Given the description of an element on the screen output the (x, y) to click on. 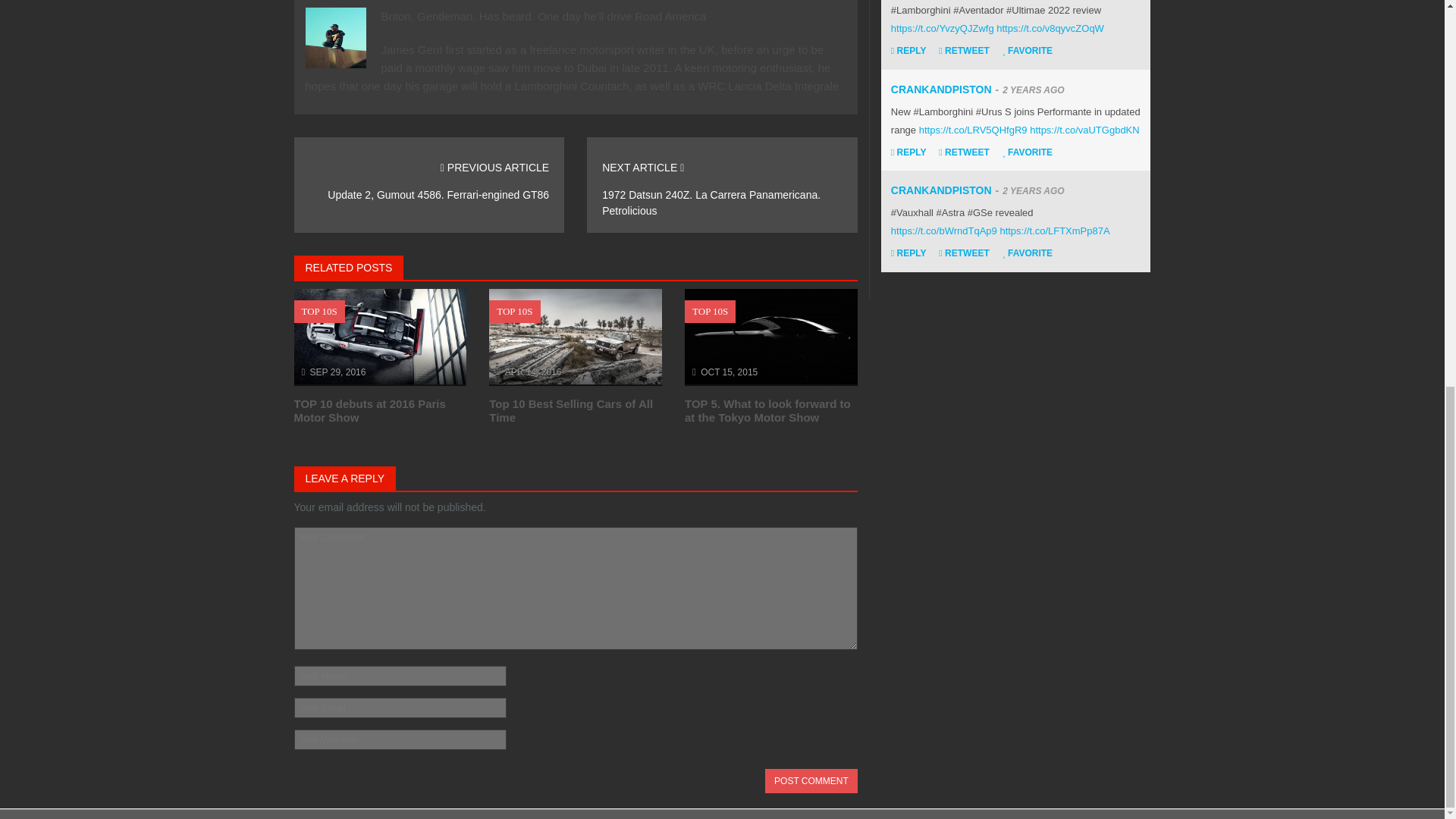
Thursday, October 15, 2015, 8:14 am (728, 371)
TOP 10 debuts at 2016 Paris Motor Show (369, 410)
Thursday, April 14, 2016, 3:29 pm (533, 371)
Top 10 Best Selling Cars of All Time (570, 410)
Post Comment (811, 781)
TOP 5. What to look forward to at the Tokyo Motor Show (767, 410)
Thursday, September 29, 2016, 5:49 pm (338, 371)
